Given the description of an element on the screen output the (x, y) to click on. 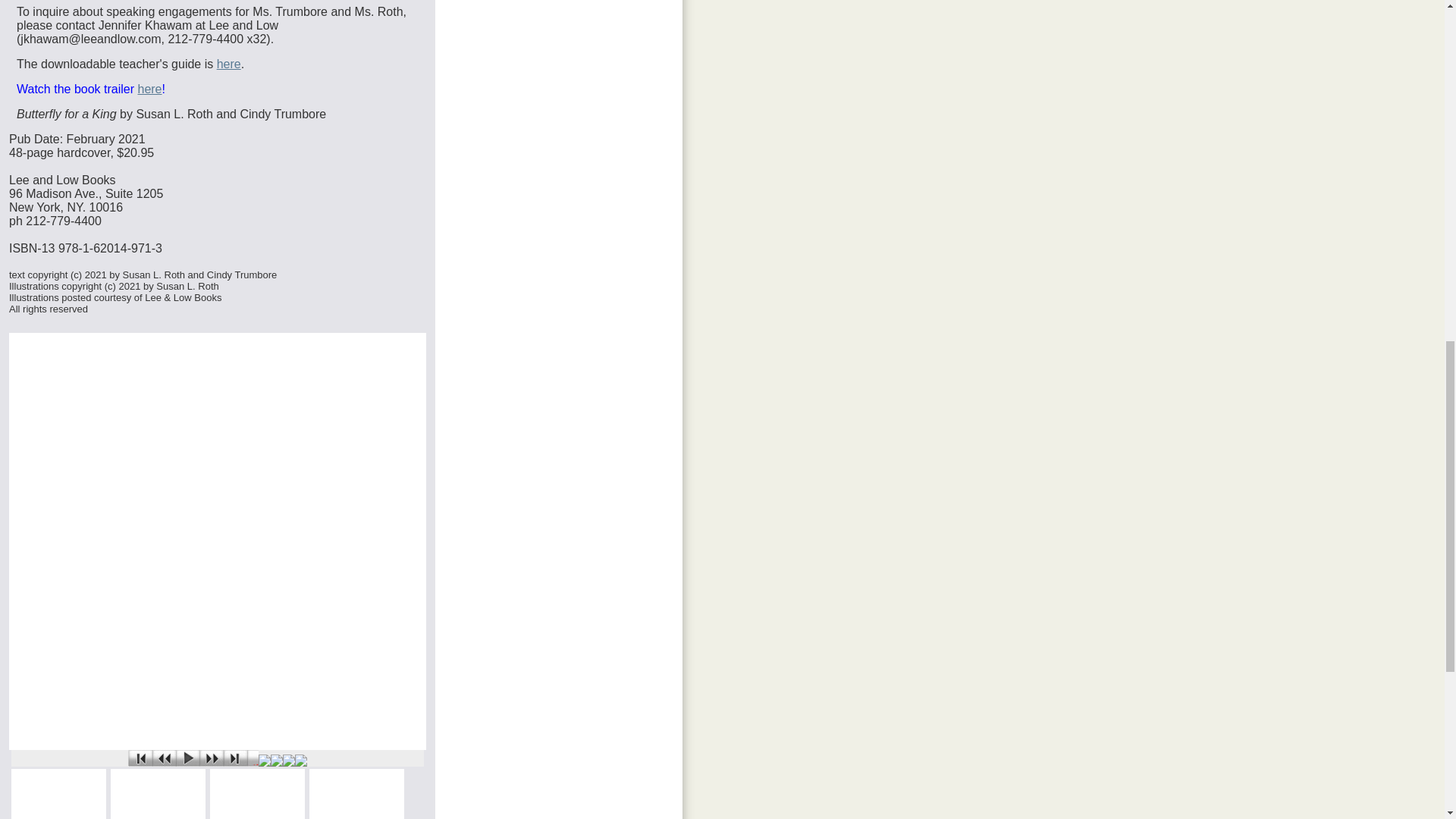
here (228, 63)
here (148, 88)
